Given the description of an element on the screen output the (x, y) to click on. 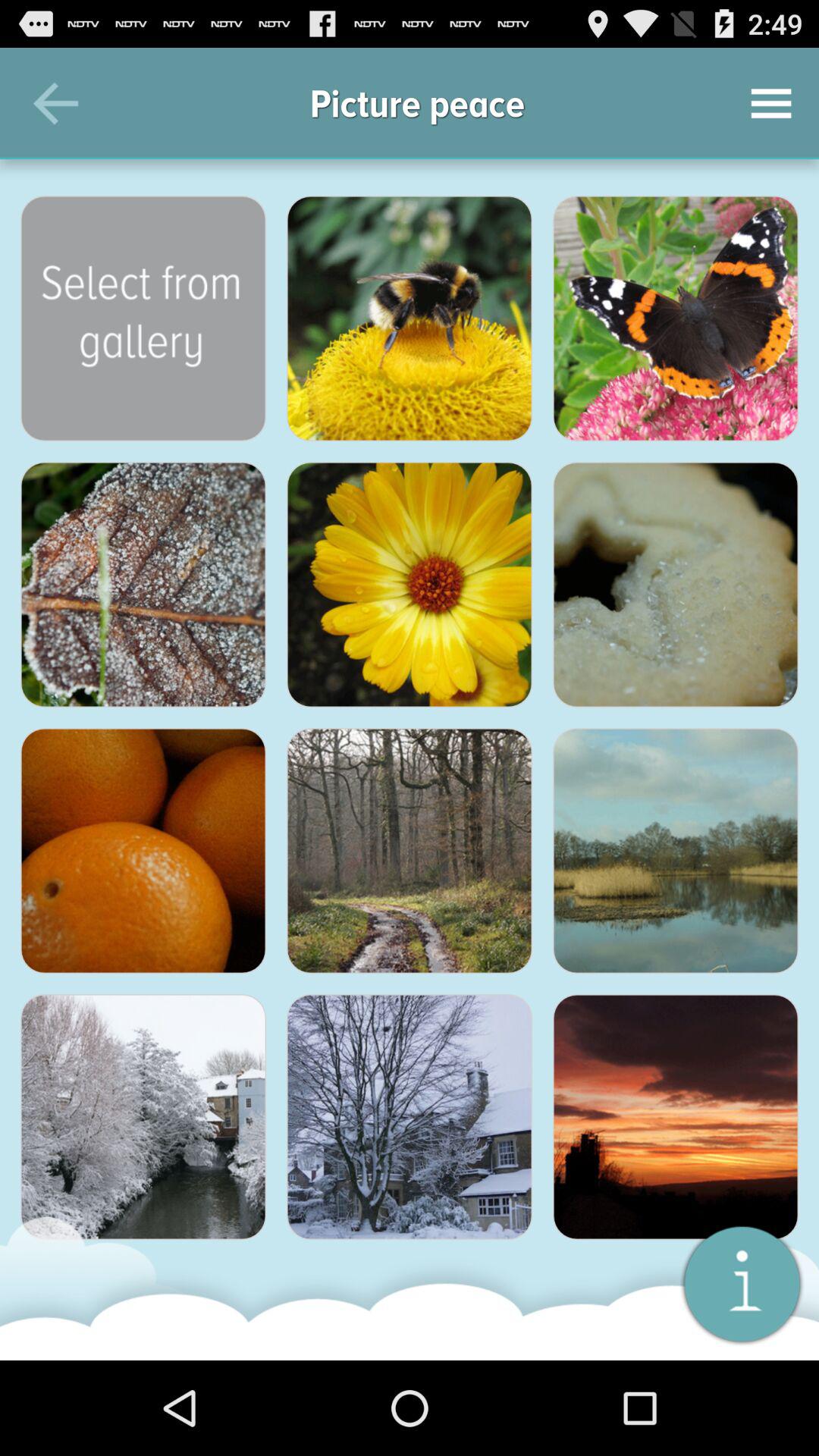
pick the picture that has the sunset (675, 1116)
